Given the description of an element on the screen output the (x, y) to click on. 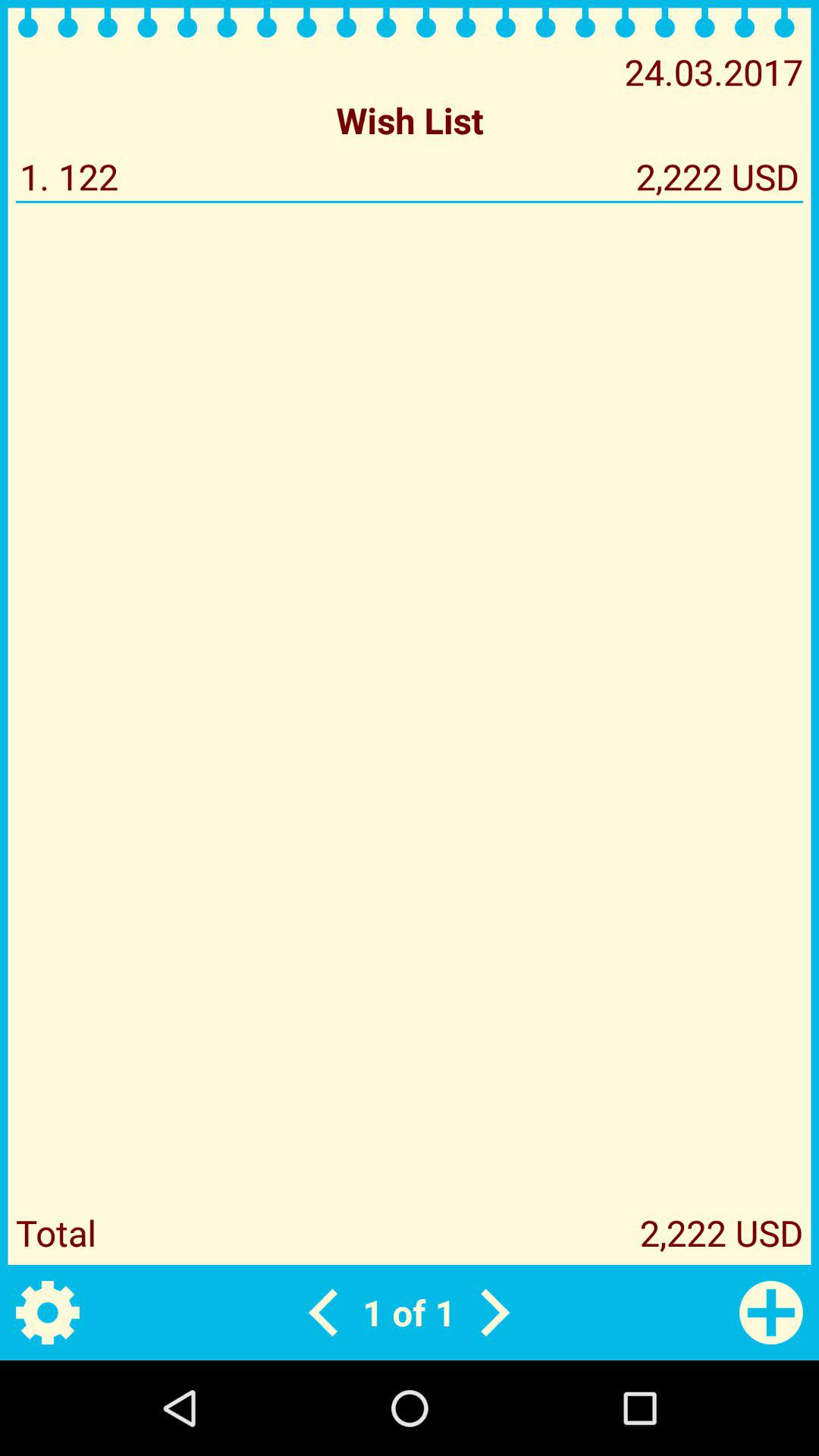
tap app above the 1. 122 (409, 120)
